Given the description of an element on the screen output the (x, y) to click on. 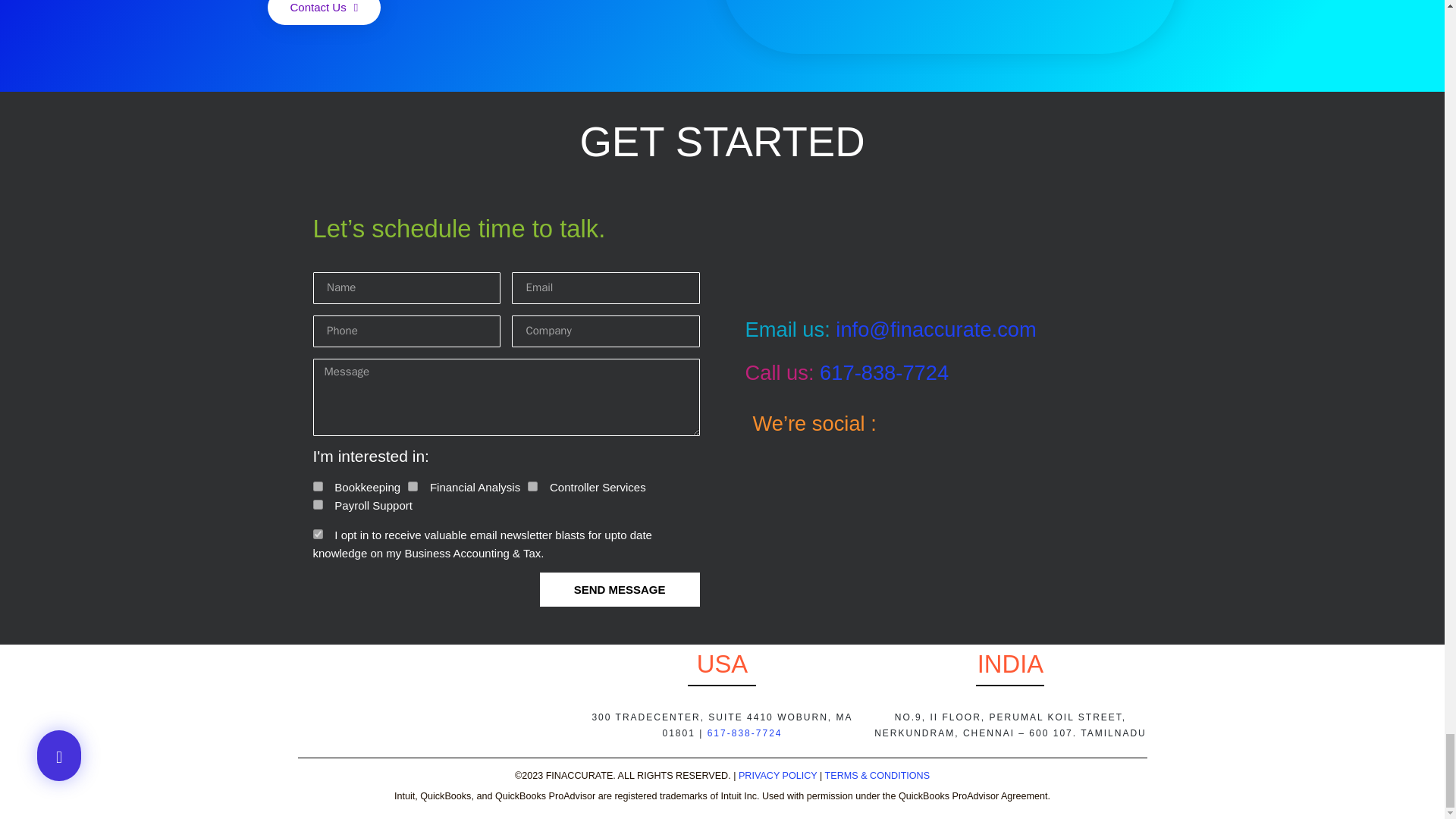
Financial Analysis (412, 486)
Controller Services (532, 486)
Twitter (1082, 424)
Payroll Support (317, 504)
Bookkeeping (317, 486)
on (317, 533)
facebook icon (1030, 424)
LinkedIn-Icon (979, 424)
